Given the description of an element on the screen output the (x, y) to click on. 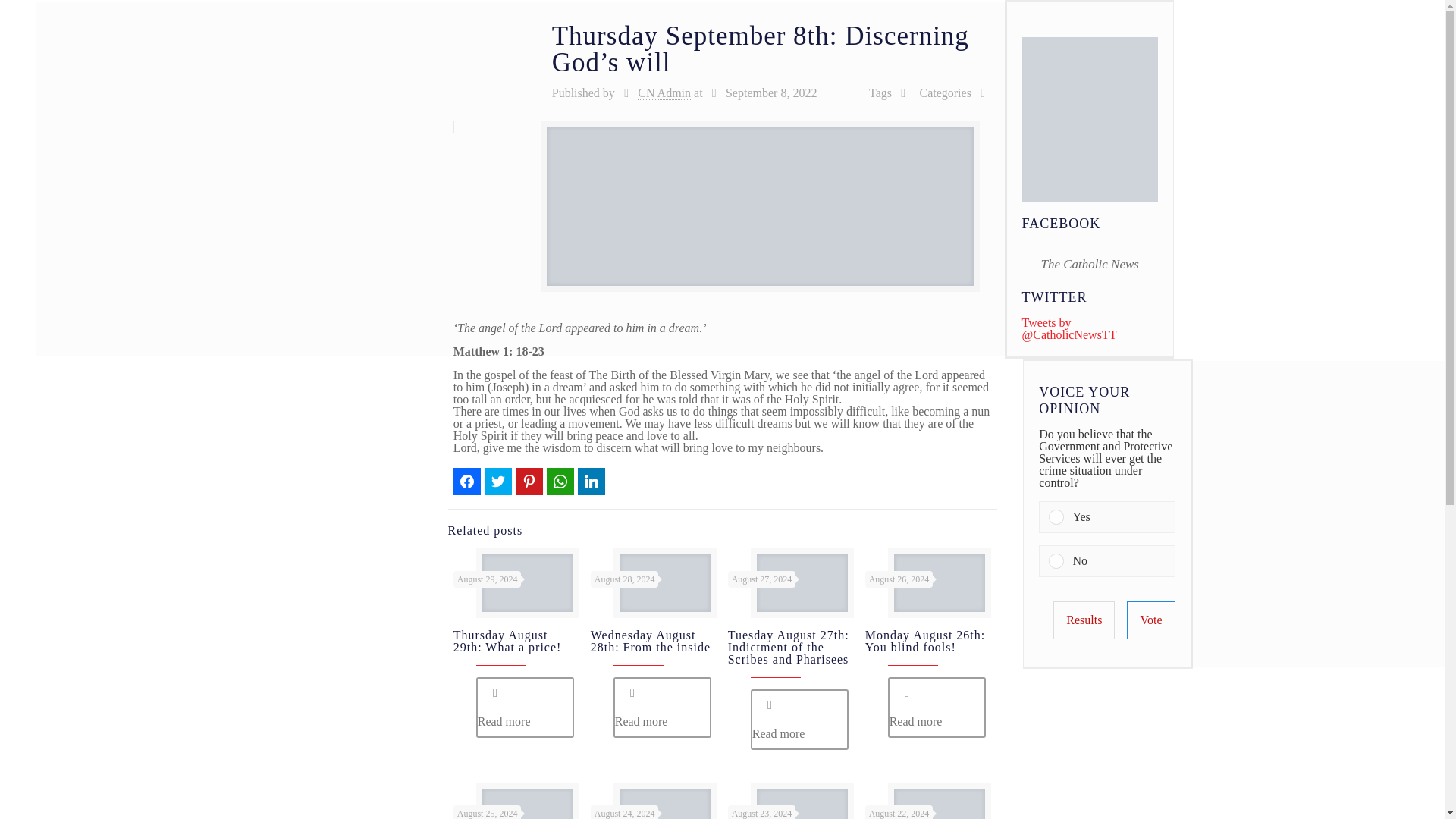
Share on Facebook (466, 481)
Share on WhatsApp (560, 481)
Share on LinkedIn (591, 481)
Share on Twitter (498, 481)
Share on Pinterest (529, 481)
